Given the description of an element on the screen output the (x, y) to click on. 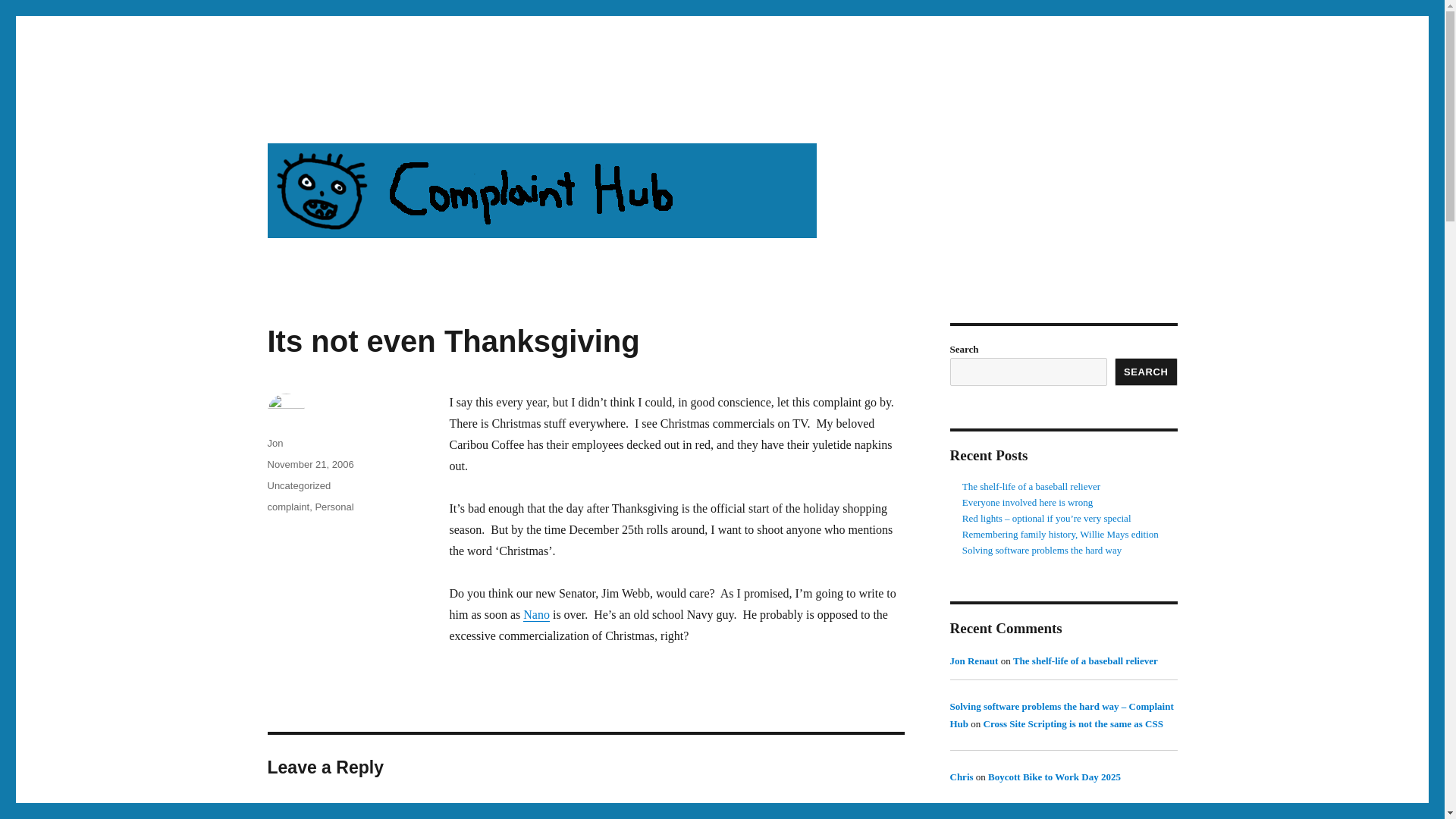
complaint (287, 506)
Personal (333, 506)
Jon (274, 442)
Uncategorized (298, 485)
Nano (536, 614)
November 21, 2006 (309, 464)
Complaint Hub (341, 114)
